Given the description of an element on the screen output the (x, y) to click on. 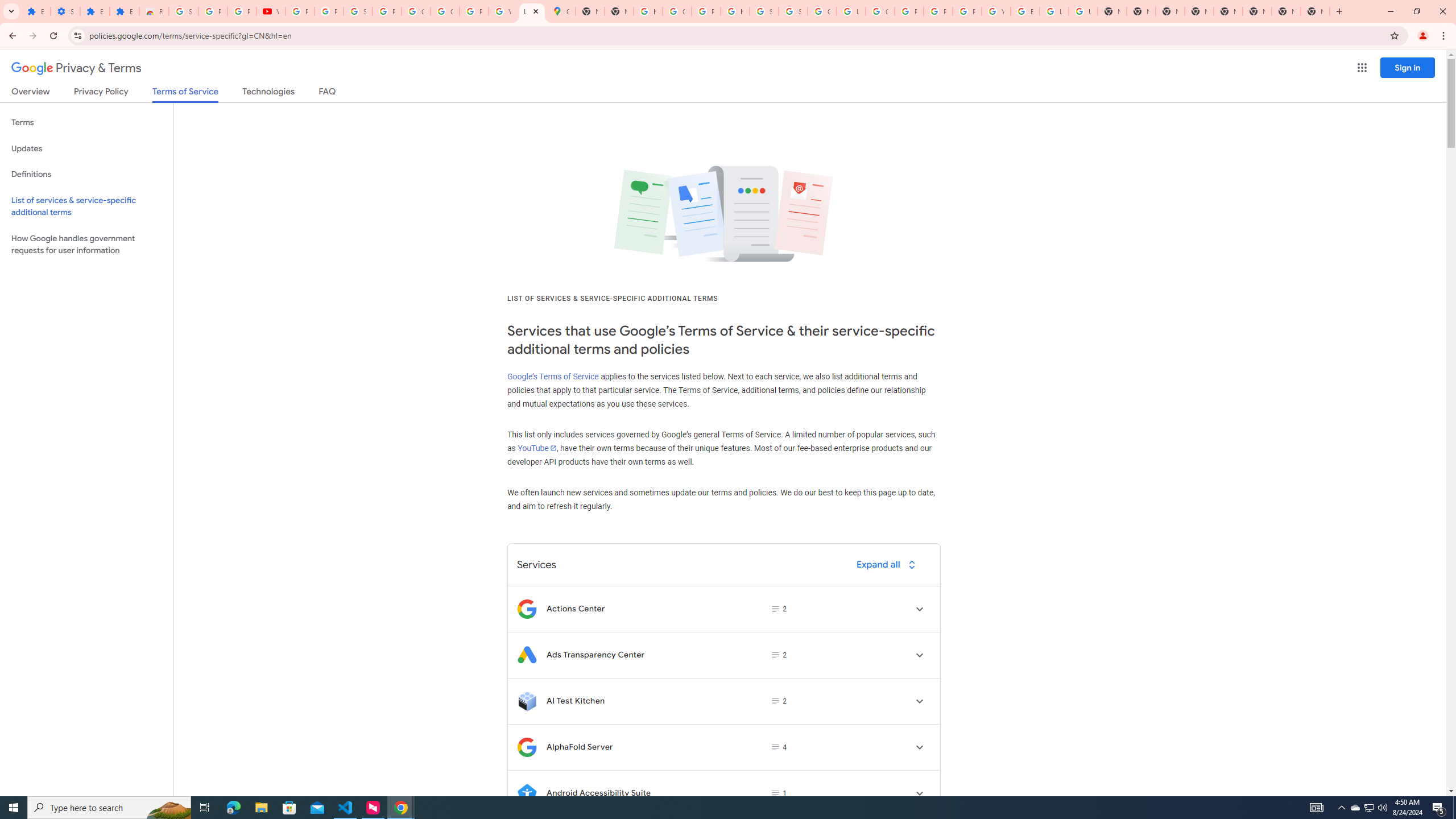
YouTube (536, 447)
Logo for Actions Center (526, 608)
New Tab (1315, 11)
